Given the description of an element on the screen output the (x, y) to click on. 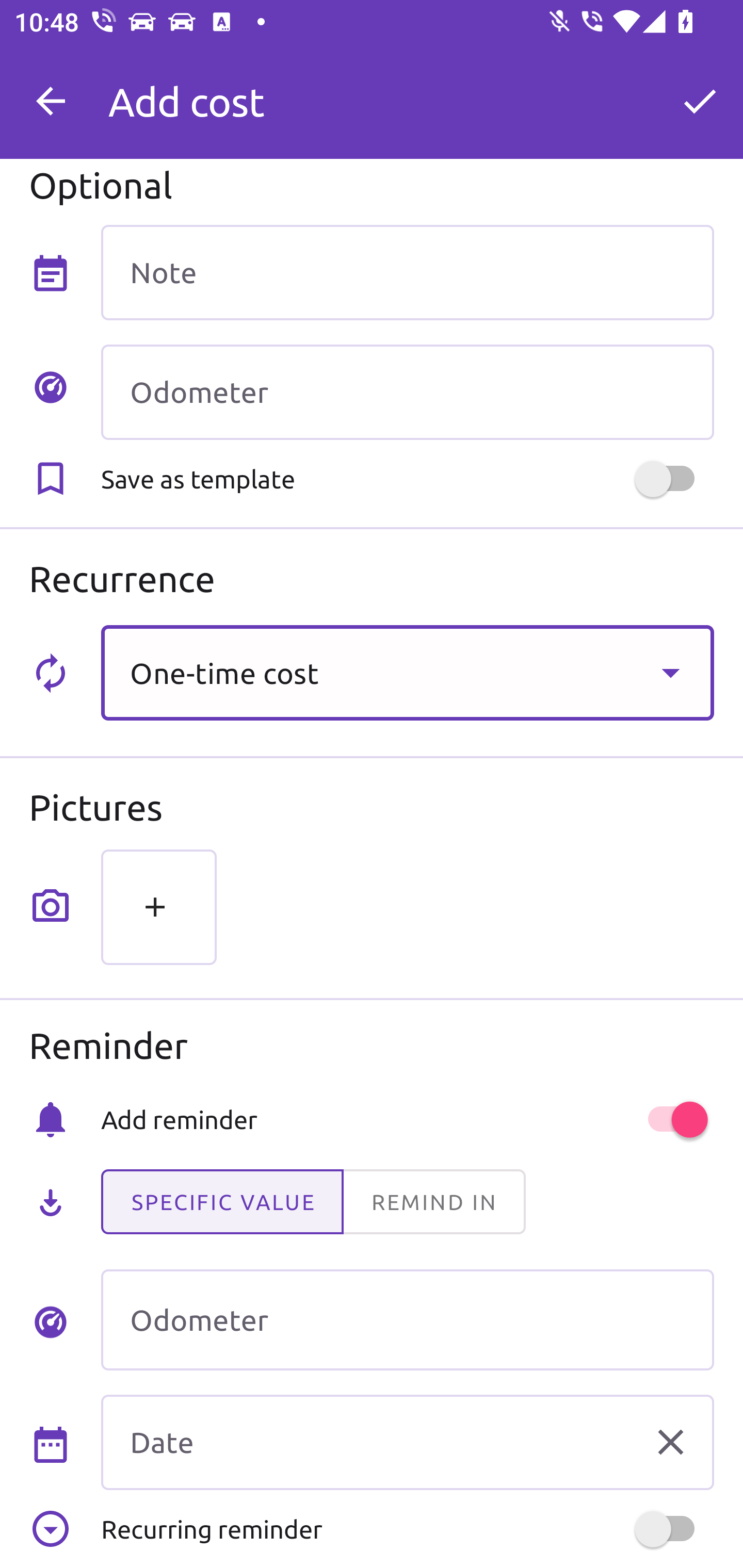
M My Car 0 km (407, 92)
Navigate up (50, 101)
OK (699, 101)
Note (407, 271)
Odometer (407, 392)
Save as template (407, 478)
One-time cost (407, 673)
Show dropdown menu (670, 672)
Add reminder (407, 1119)
SPECIFIC VALUE (222, 1201)
REMIND IN (433, 1201)
Odometer (407, 1320)
Date (407, 1441)
Delete (670, 1441)
Recurring reminder (407, 1529)
